Given the description of an element on the screen output the (x, y) to click on. 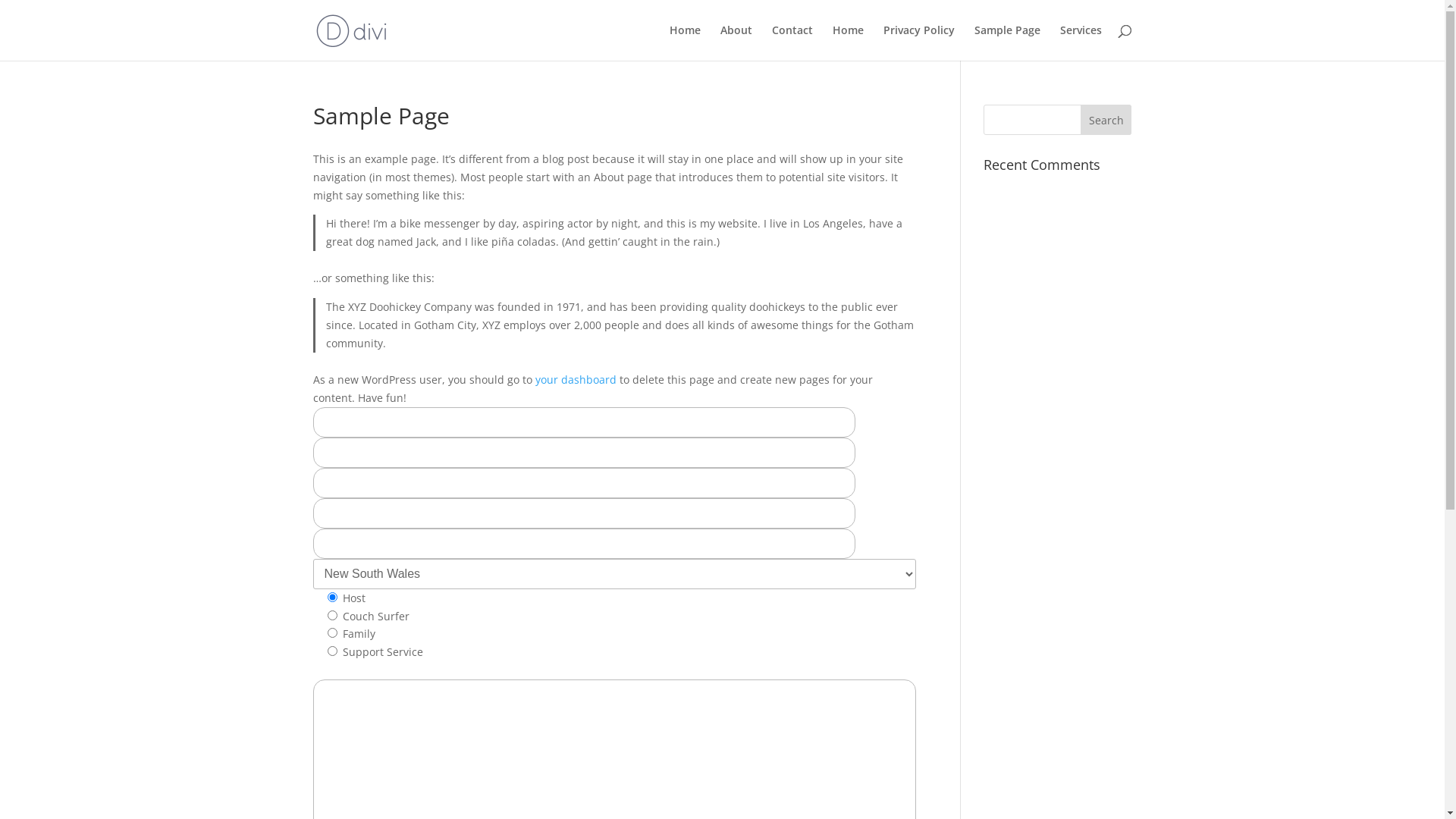
Services Element type: text (1080, 42)
About Element type: text (736, 42)
Home Element type: text (683, 42)
Home Element type: text (847, 42)
your dashboard Element type: text (575, 379)
Search Element type: text (1106, 119)
Sample Page Element type: text (1006, 42)
Contact Element type: text (791, 42)
Privacy Policy Element type: text (917, 42)
